Given the description of an element on the screen output the (x, y) to click on. 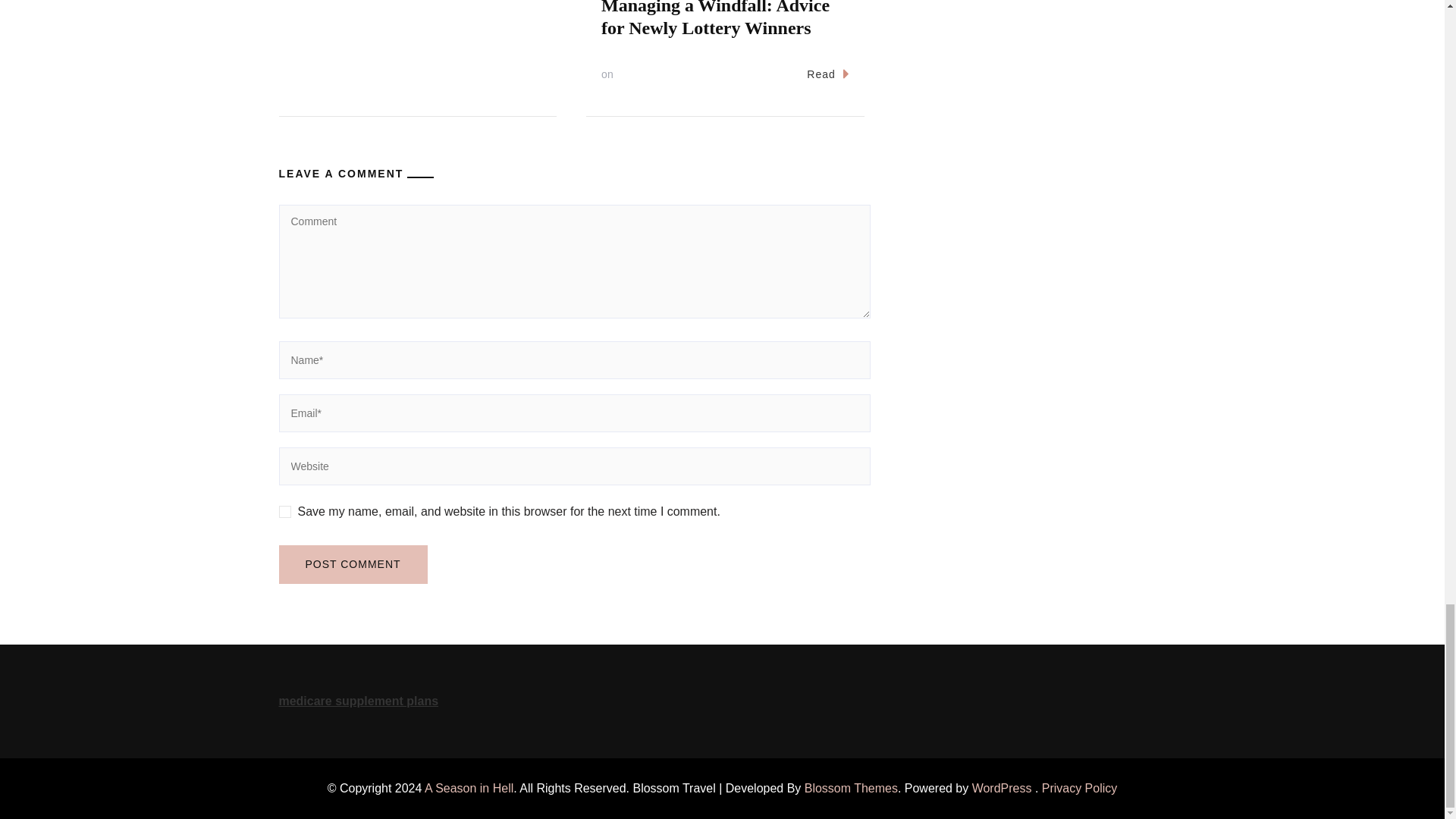
Post Comment (353, 564)
